Given the description of an element on the screen output the (x, y) to click on. 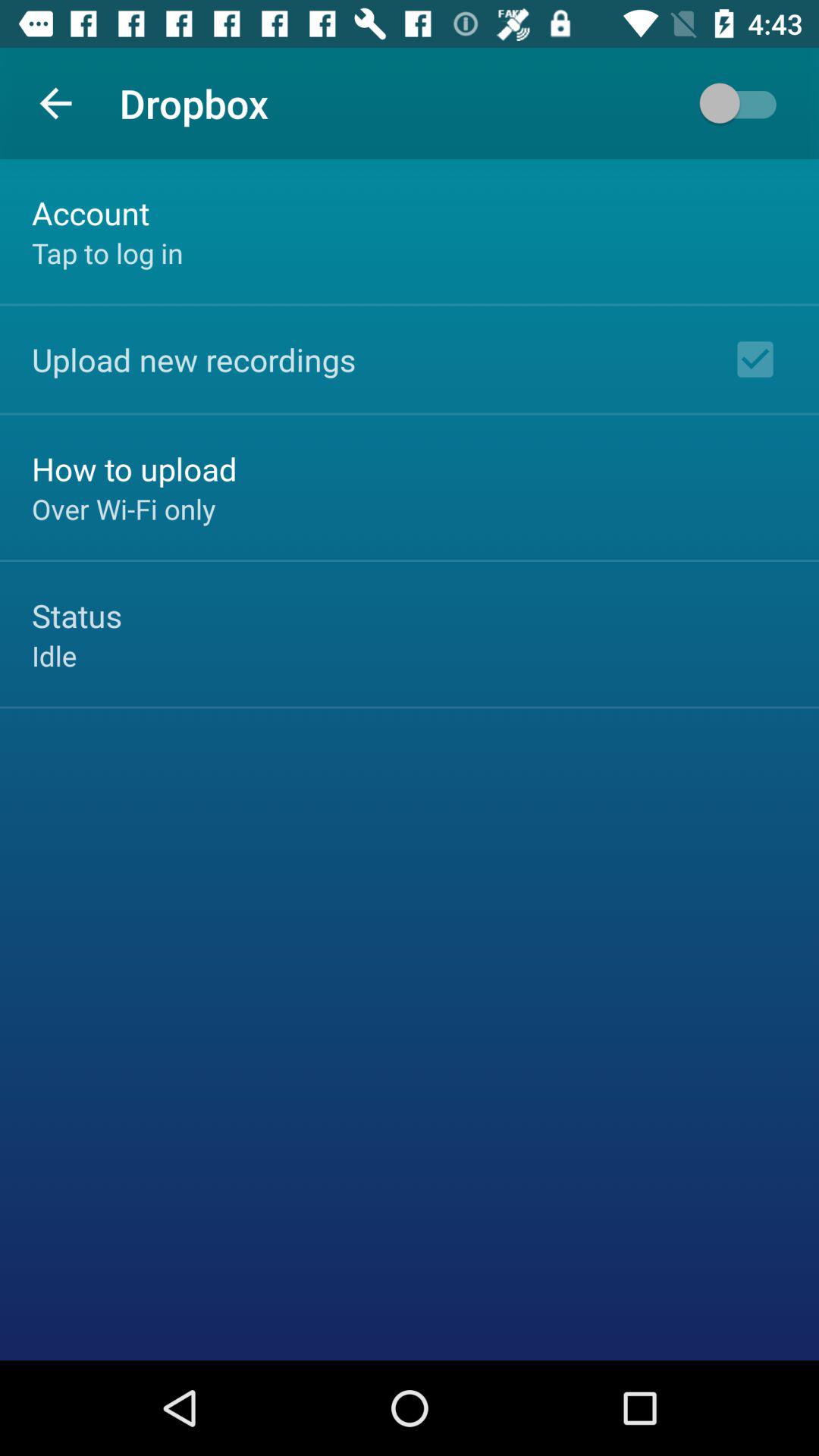
jump to the account (90, 212)
